Given the description of an element on the screen output the (x, y) to click on. 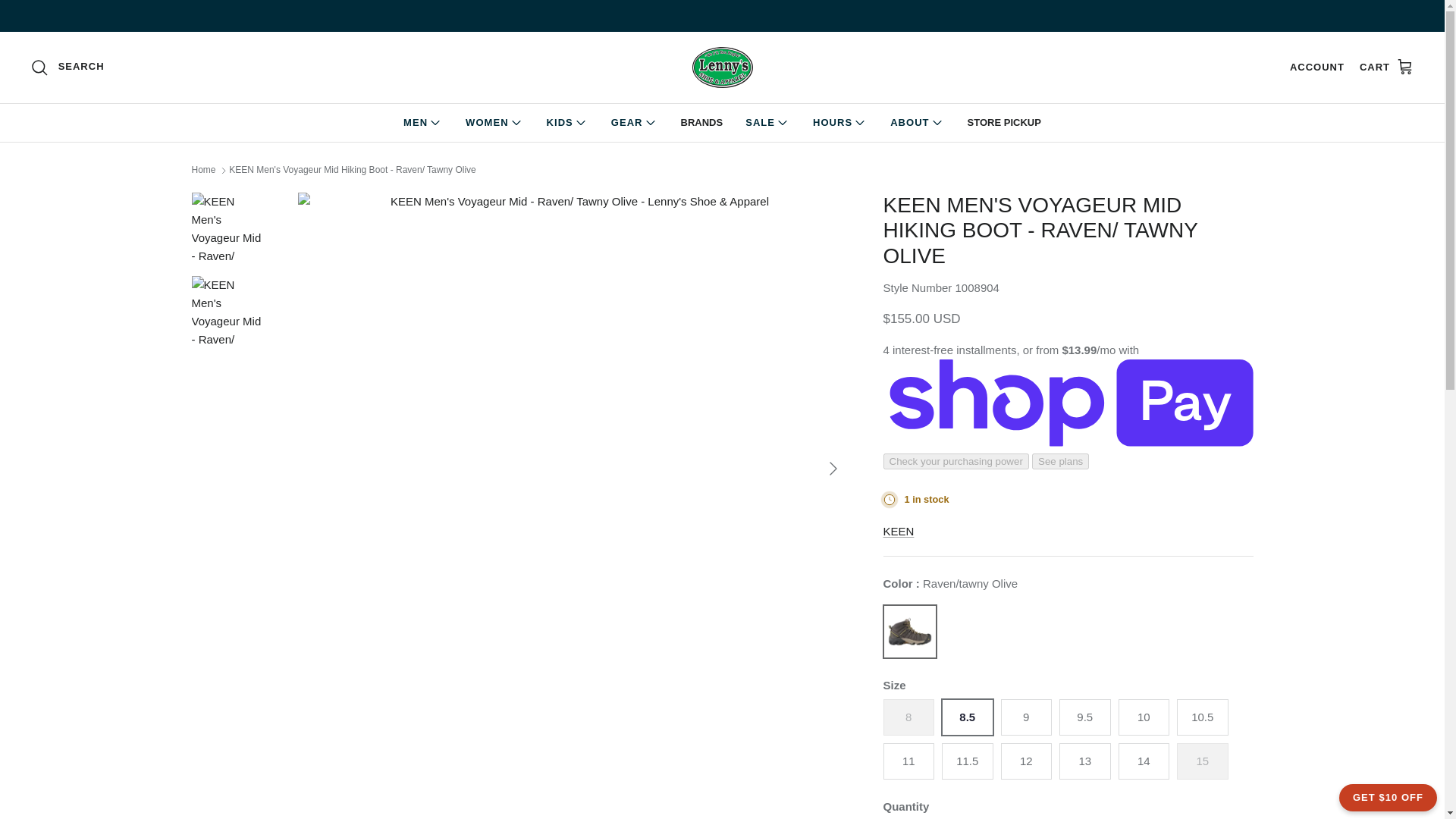
CART (1386, 66)
MEN (422, 122)
ACCOUNT (1316, 67)
SEARCH (67, 67)
RIGHT (832, 468)
